Given the description of an element on the screen output the (x, y) to click on. 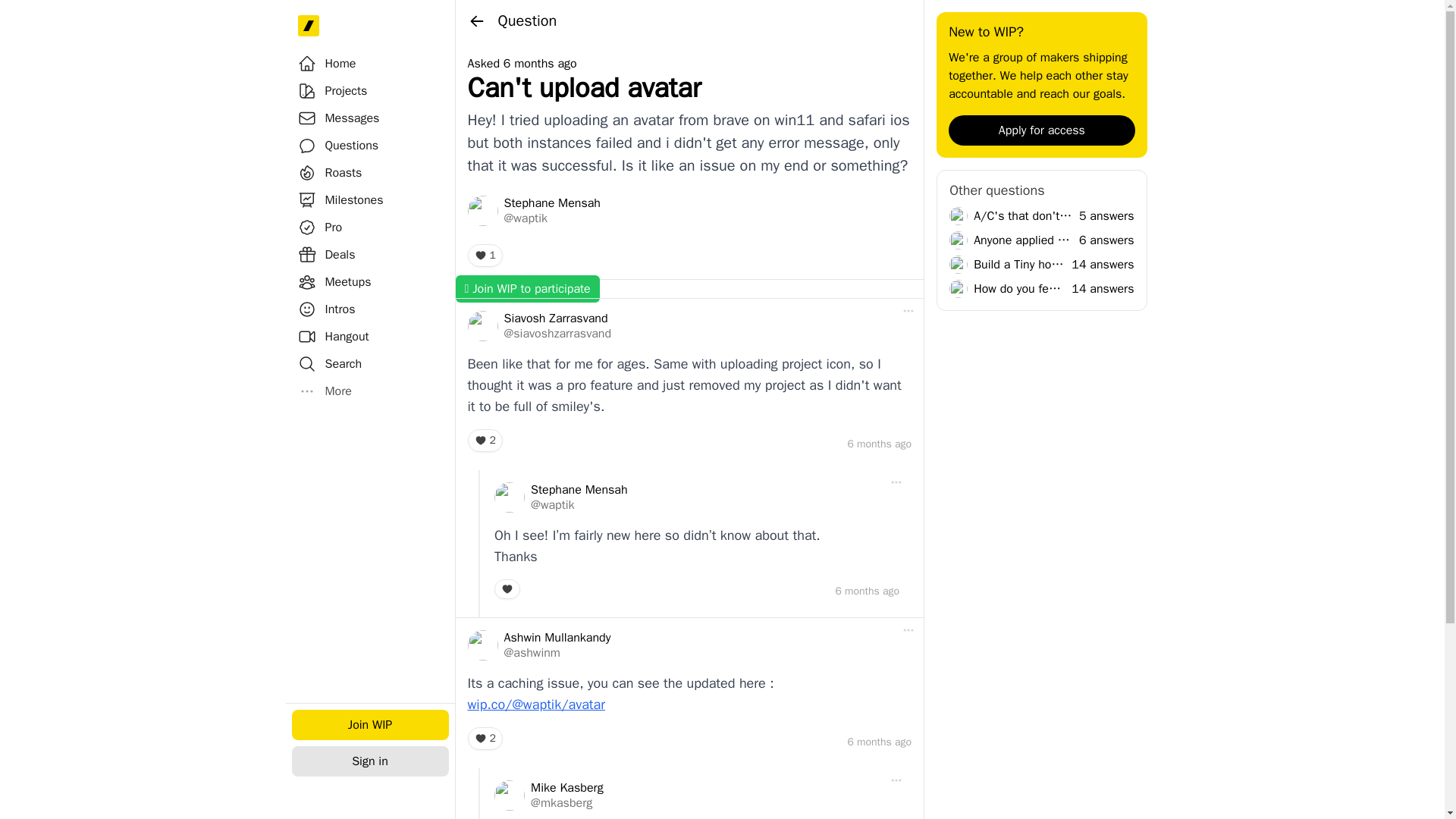
Home (326, 63)
Back (476, 20)
Projects (331, 90)
Deals (326, 254)
Questions (337, 145)
March 02, 2024 07:15 (866, 590)
March 01, 2024 08:46 (539, 63)
March 01, 2024 14:40 (879, 741)
Intros (326, 309)
March 01, 2024 12:06 (879, 443)
